Given the description of an element on the screen output the (x, y) to click on. 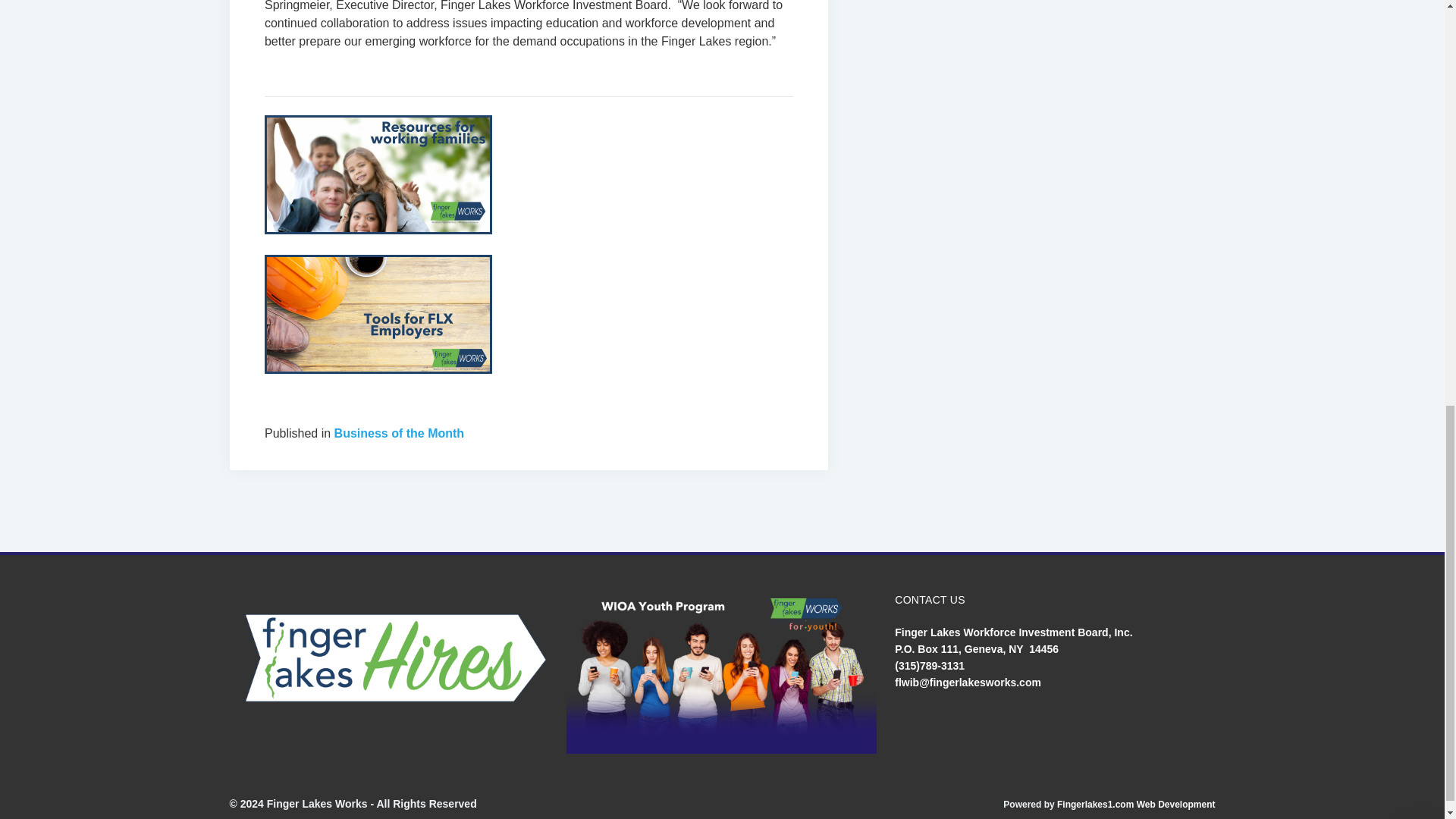
View all posts in Business of the Month (399, 432)
